Given the description of an element on the screen output the (x, y) to click on. 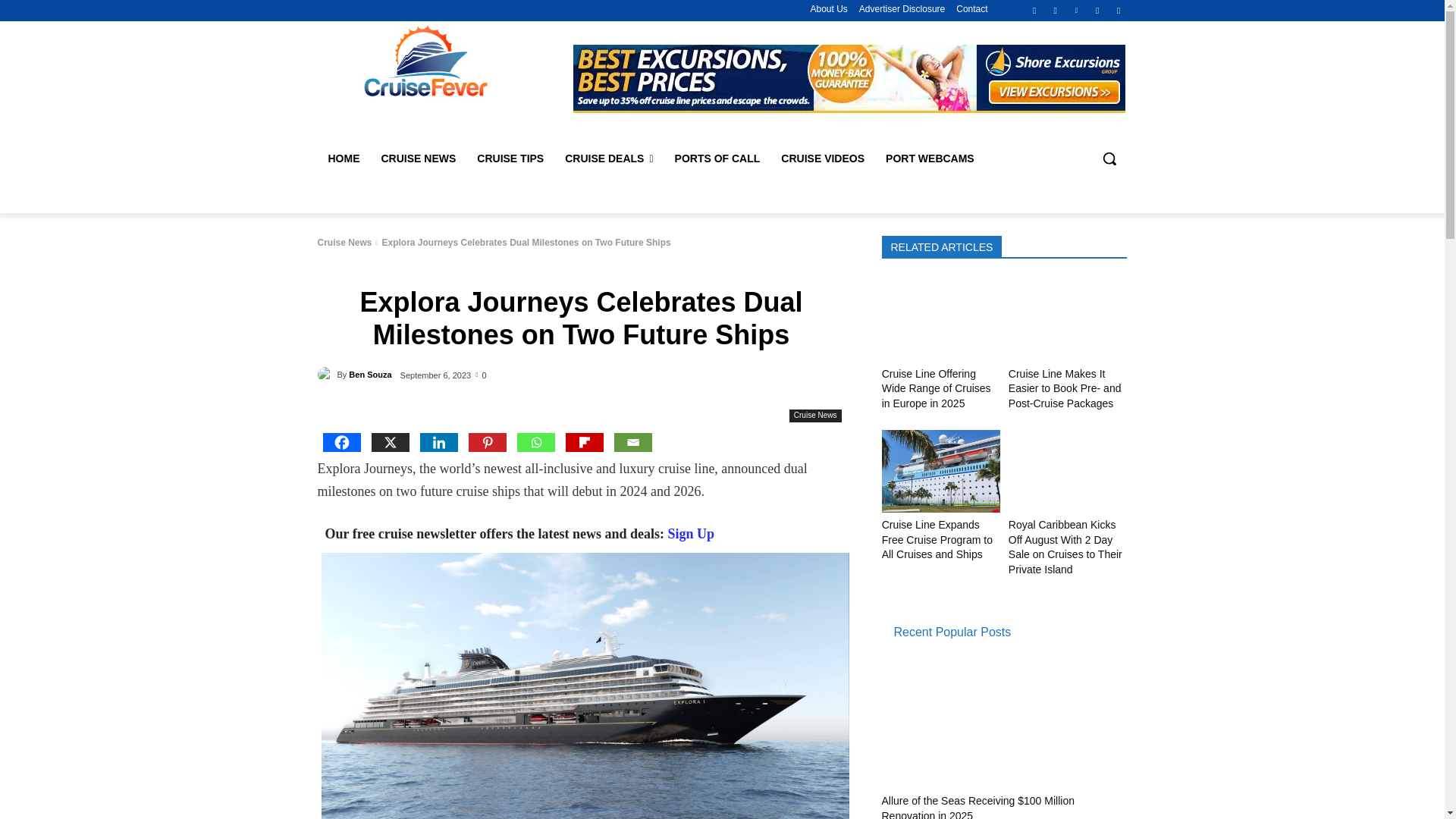
HOME (343, 158)
Advertiser Disclosure (901, 9)
Twitter (1097, 9)
Pinterest (1075, 9)
Instagram (1055, 9)
About Us (828, 9)
CRUISE NEWS (417, 158)
CRUISE DEALS (608, 158)
Facebook (1034, 9)
CRUISE TIPS (509, 158)
